Given the description of an element on the screen output the (x, y) to click on. 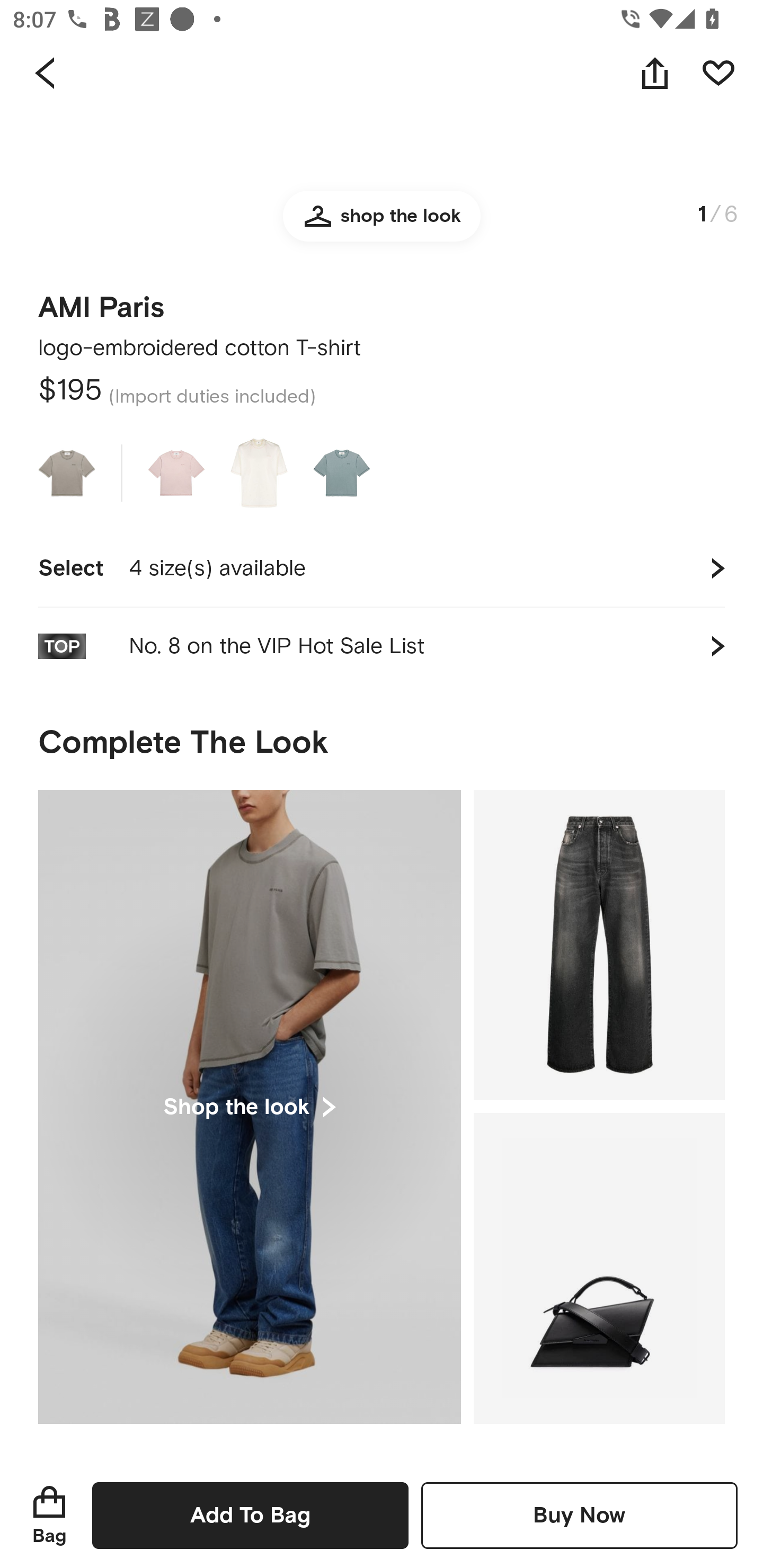
shop the look (381, 231)
AMI Paris (101, 301)
Select 4 size(s) available (381, 567)
No. 8 on the VIP Hot Sale List (381, 645)
Bag (49, 1515)
Add To Bag (250, 1515)
Buy Now (579, 1515)
